Given the description of an element on the screen output the (x, y) to click on. 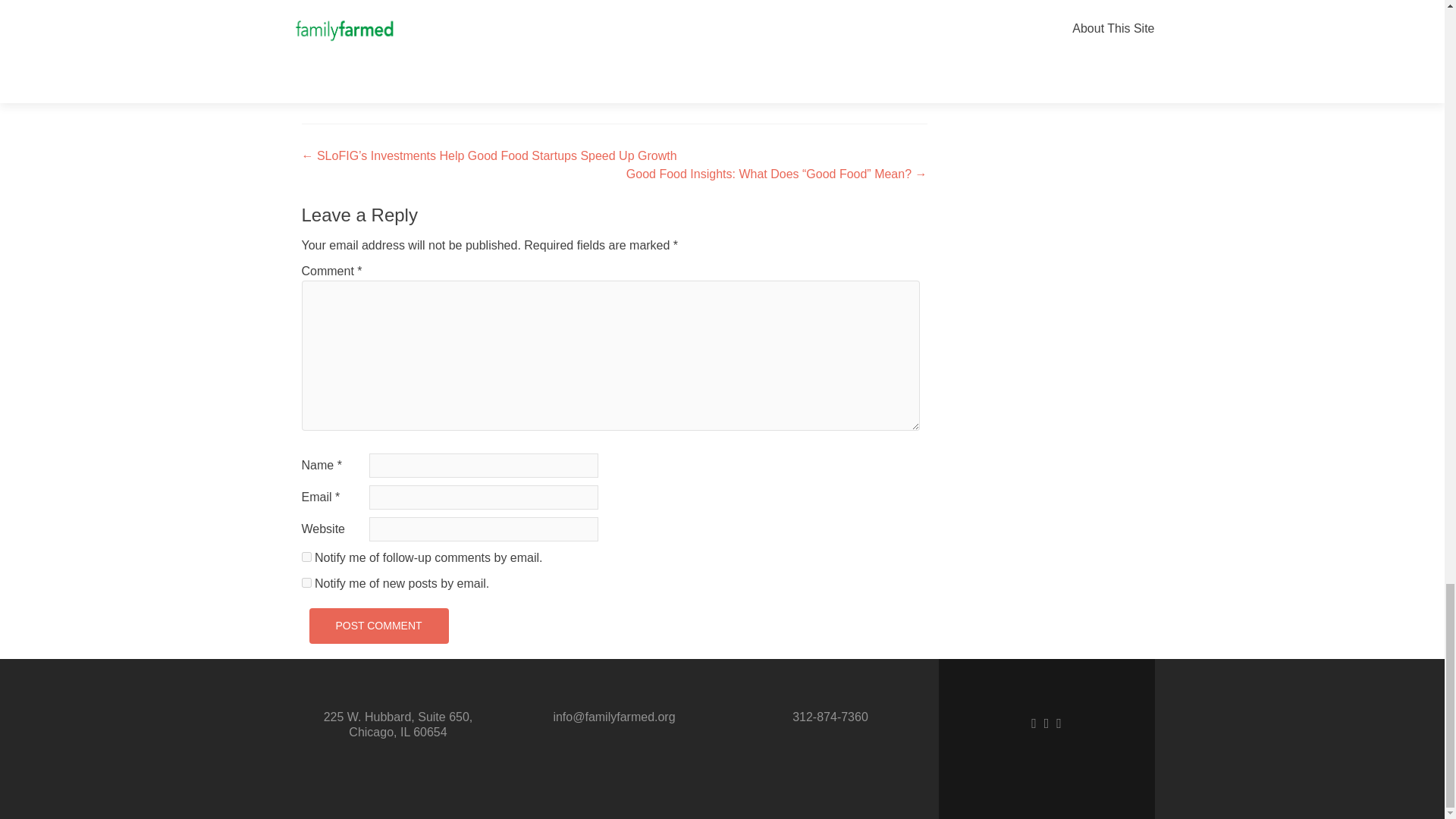
subscribe (306, 583)
subscribe (306, 556)
Post Comment (378, 625)
